Given the description of an element on the screen output the (x, y) to click on. 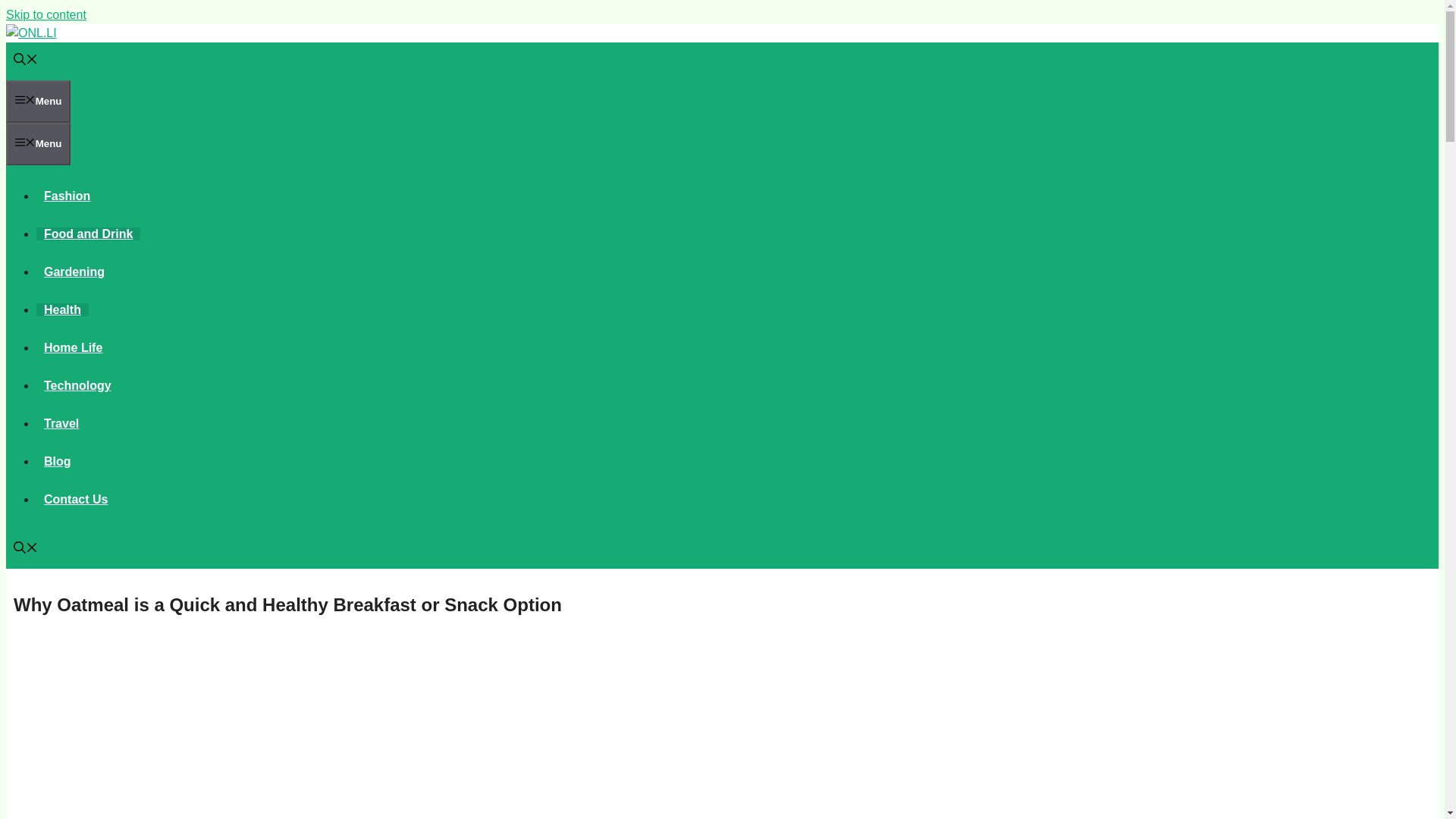
Gardening (74, 271)
Blog (57, 461)
Health (62, 309)
Food and Drink (87, 233)
Technology (77, 385)
Travel (60, 422)
Contact Us (75, 499)
Skip to content (45, 14)
Skip to content (45, 14)
Fashion (66, 195)
Menu (37, 101)
Home Life (73, 347)
Menu (37, 143)
